Given the description of an element on the screen output the (x, y) to click on. 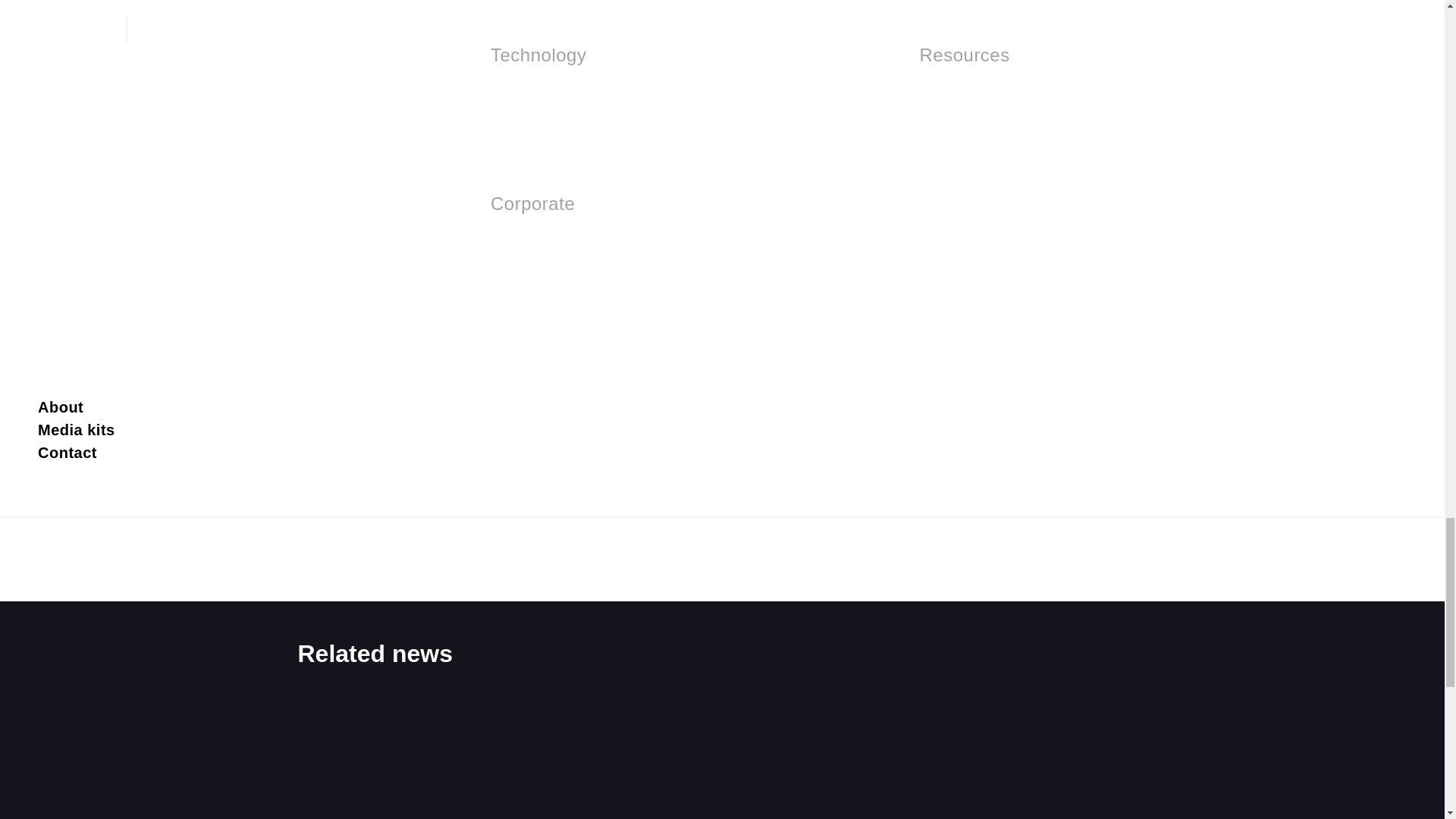
Share this page on Twitter (514, 242)
Share this page on Facebook (616, 242)
Share this page on Linkedin (565, 242)
